Given the description of an element on the screen output the (x, y) to click on. 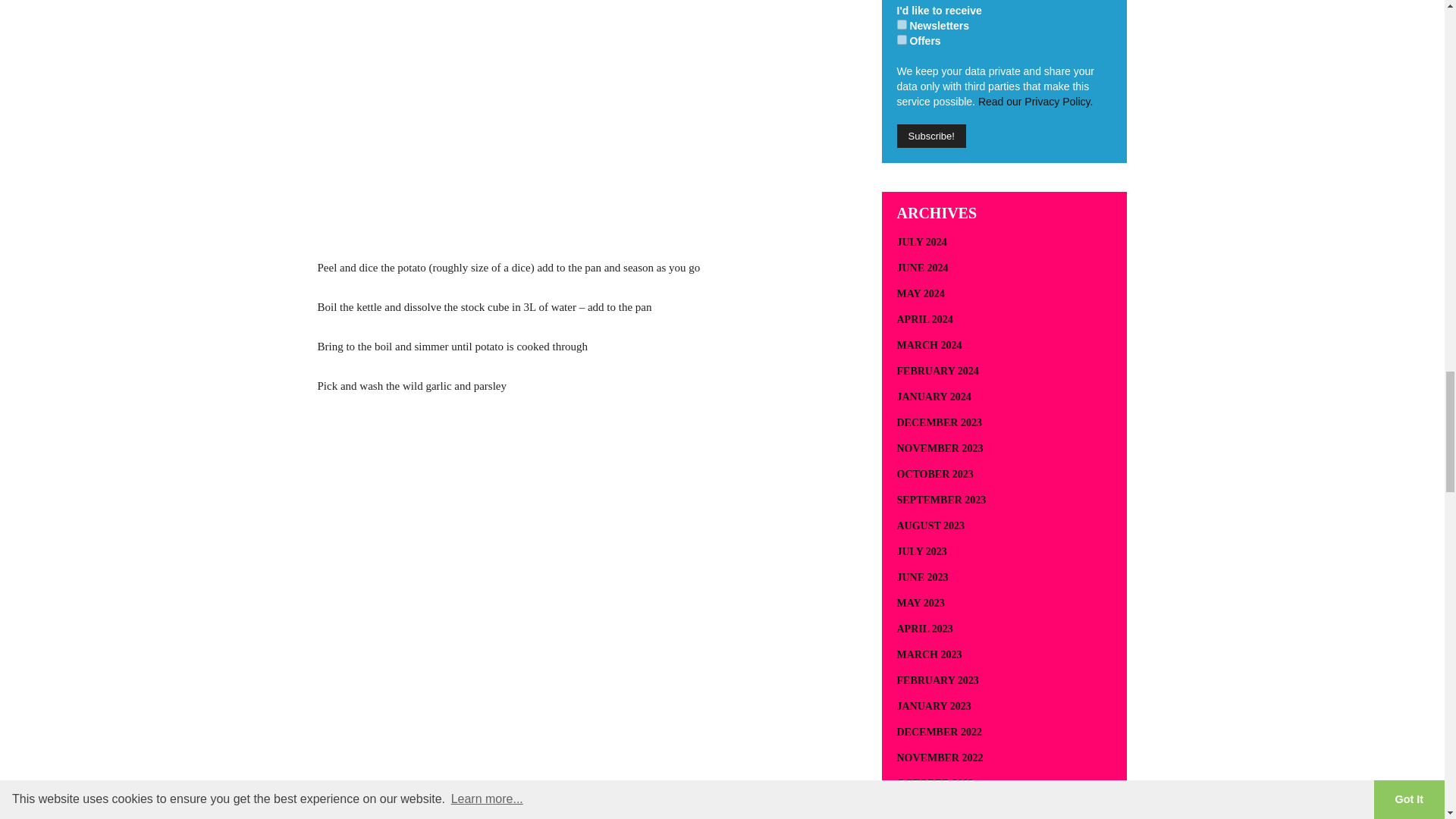
3 (900, 24)
Subscribe! (930, 136)
4 (900, 40)
